Given the description of an element on the screen output the (x, y) to click on. 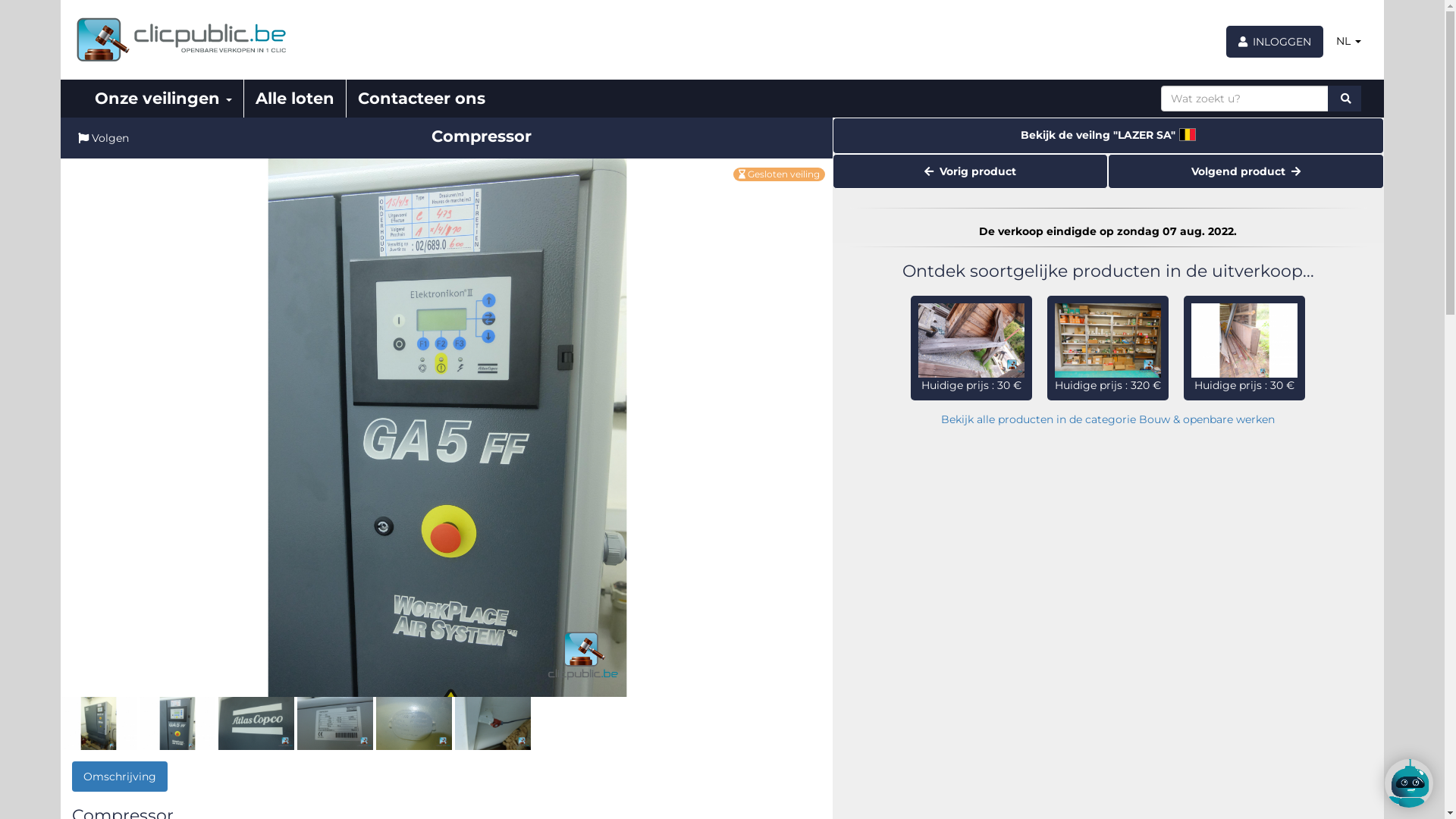
Onze veilingen Element type: text (163, 98)
Volgend product   Element type: text (1245, 170)
Bekijk alle producten in de categorie Bouw & openbare werken Element type: text (1107, 419)
Compressor Element type: hover (447, 427)
Bekijk de veilng "LAZER SA" Element type: text (1107, 135)
  Element type: text (1344, 98)
Set van rekken met inhoud Element type: hover (1107, 340)
Partij bouwmaterialen Element type: hover (1244, 340)
Alle loten Element type: text (295, 98)
Compressor Element type: hover (256, 722)
Compressor Element type: hover (335, 722)
Compressor Element type: hover (492, 722)
Contacteer ons Element type: text (421, 98)
Compressor Element type: hover (177, 722)
Compressor Element type: hover (98, 722)
Zoeken Element type: hover (1344, 98)
NL Element type: text (1348, 40)
Volgen Element type: text (103, 137)
Omschrijving Element type: text (119, 776)
Houten galg Element type: hover (971, 340)
Compressor Element type: hover (413, 722)
  Vorig product Element type: text (970, 170)
  INLOGGEN Element type: text (1274, 41)
